Given the description of an element on the screen output the (x, y) to click on. 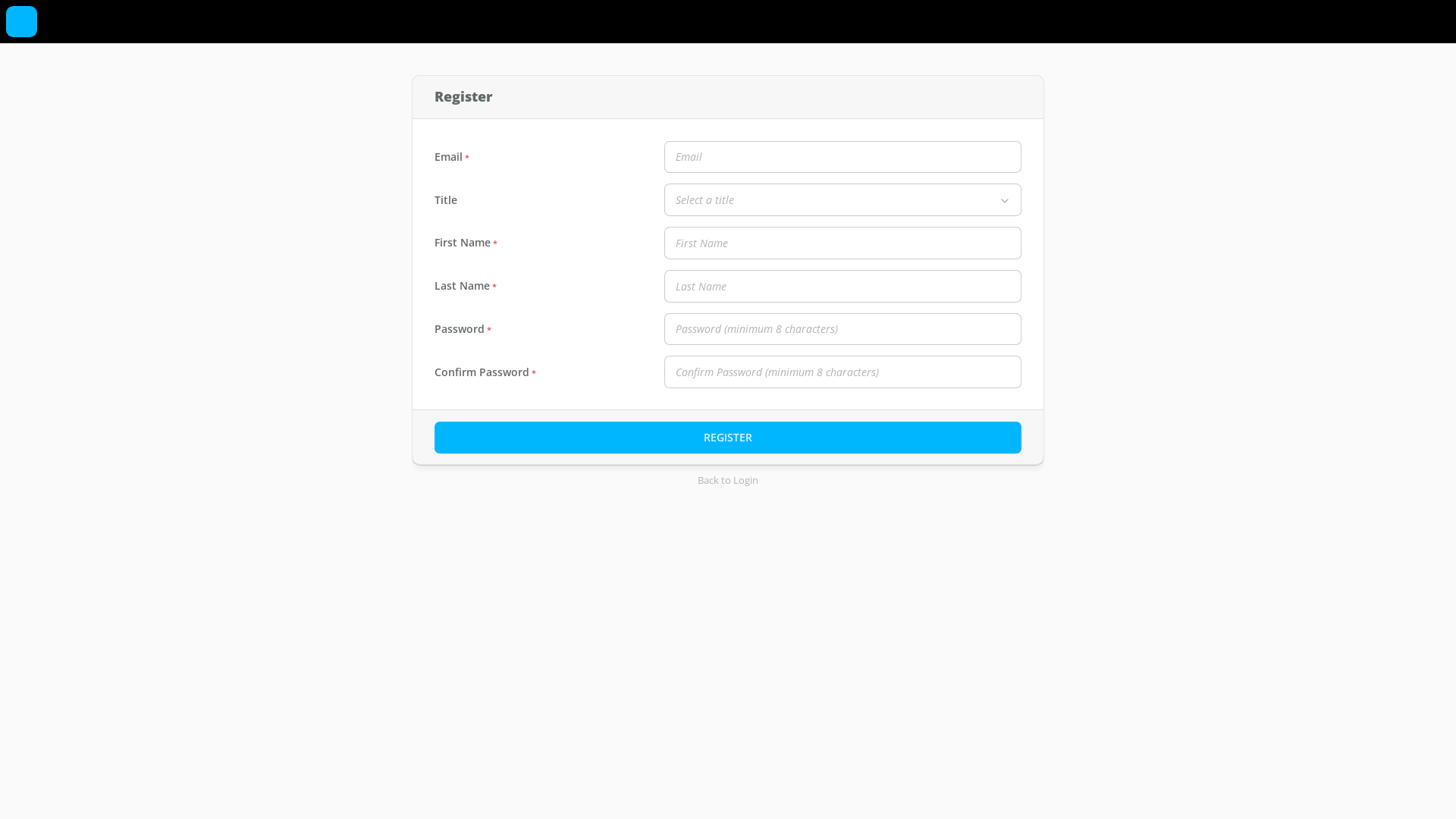
Back to Login Element type: text (727, 479)
222 A Ghost Story Element type: hover (21, 33)
REGISTER Element type: text (727, 437)
